Given the description of an element on the screen output the (x, y) to click on. 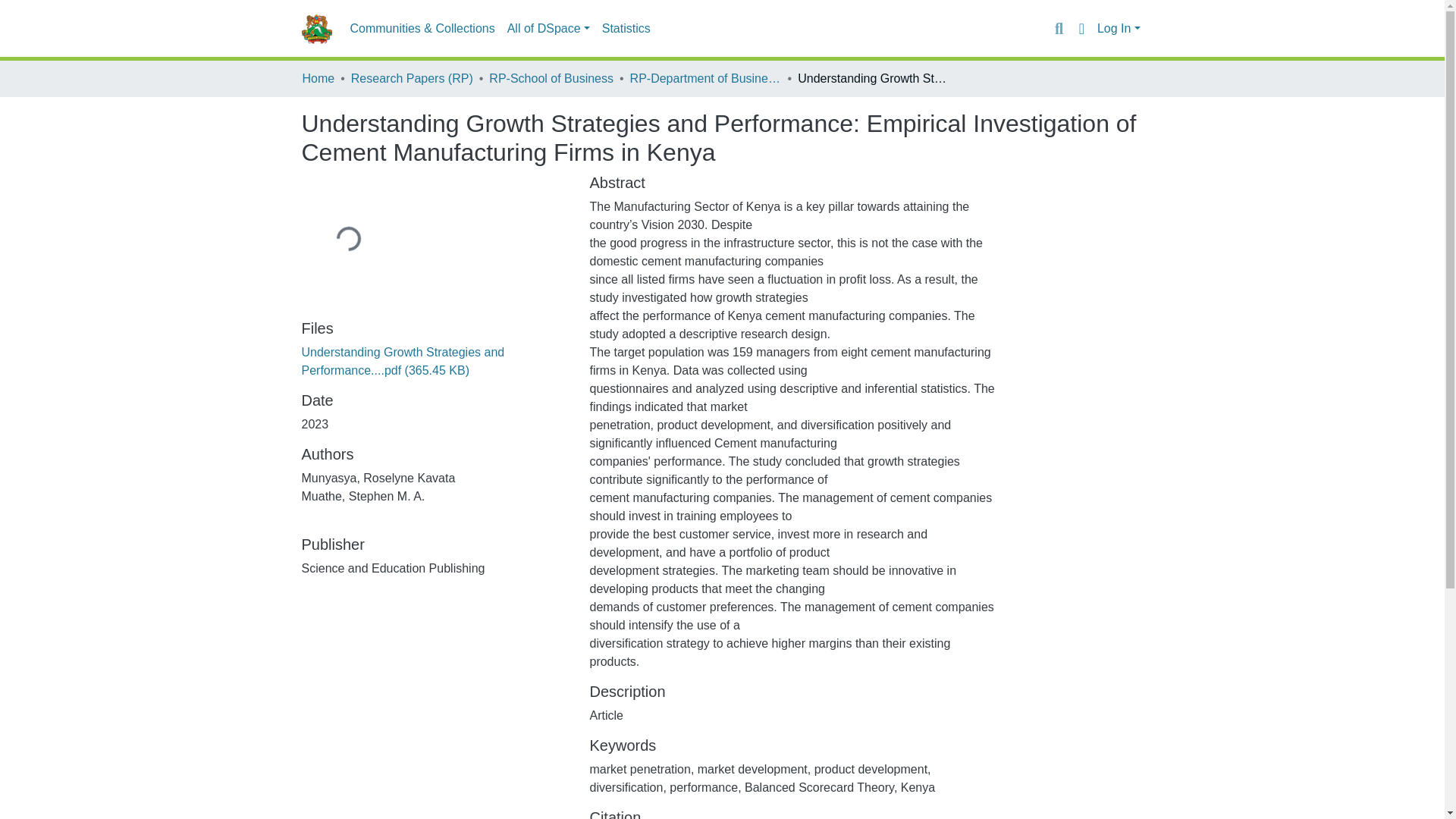
Statistics (625, 28)
Log In (1118, 28)
All of DSpace (547, 28)
Home (317, 78)
Search (1058, 28)
RP-School of Business (550, 78)
Language switch (1081, 28)
RP-Department of Business Administration (705, 78)
Statistics (625, 28)
